Given the description of an element on the screen output the (x, y) to click on. 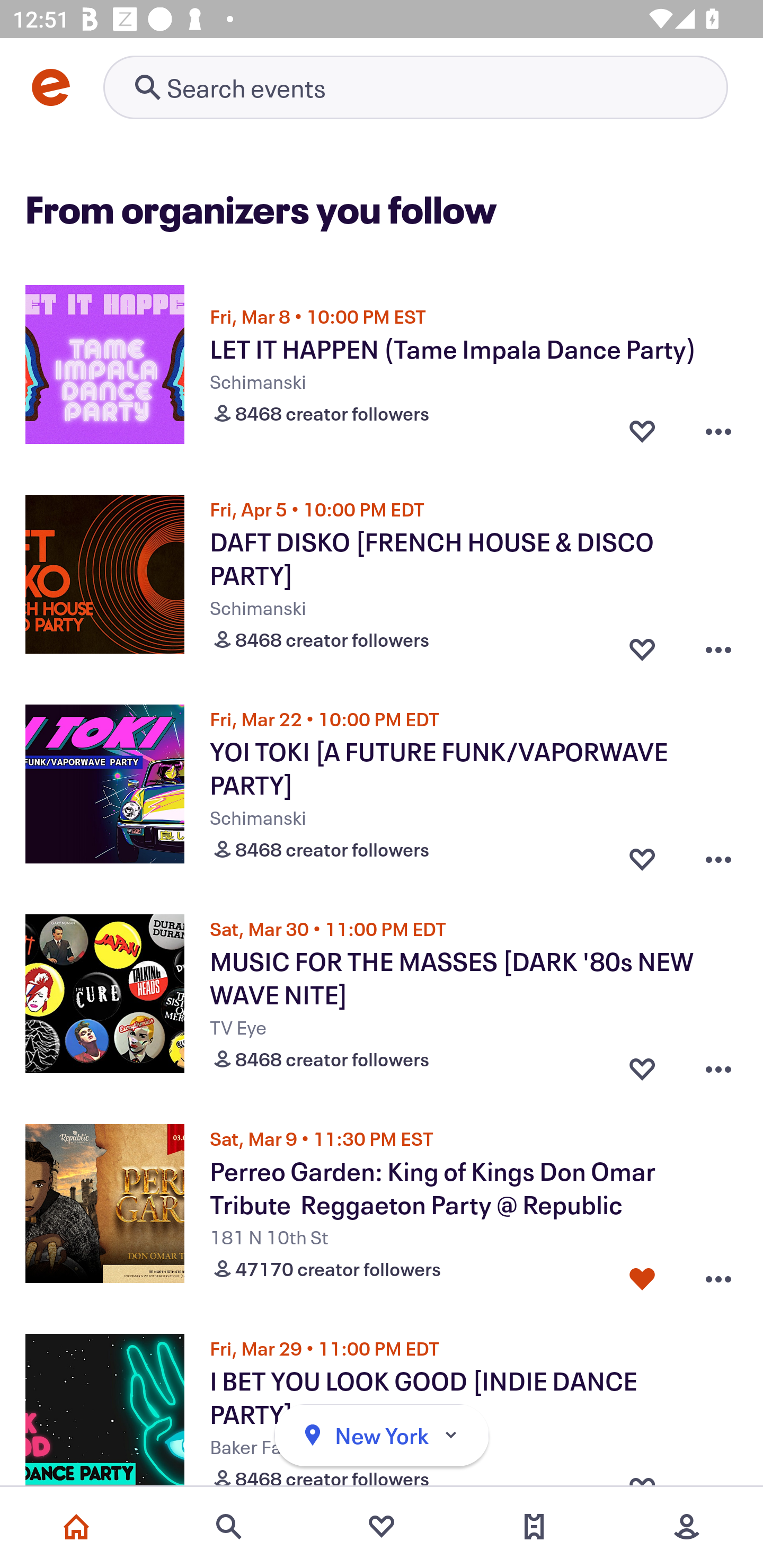
Retry's image Search events (415, 86)
Favorite button (642, 430)
Overflow menu button (718, 430)
Favorite button (642, 644)
Overflow menu button (718, 644)
Favorite button (642, 855)
Overflow menu button (718, 855)
Favorite button (642, 1065)
Overflow menu button (718, 1065)
Favorite button (642, 1274)
Overflow menu button (718, 1274)
New York (381, 1435)
Home (76, 1526)
Search events (228, 1526)
Favorites (381, 1526)
Tickets (533, 1526)
More (686, 1526)
